Given the description of an element on the screen output the (x, y) to click on. 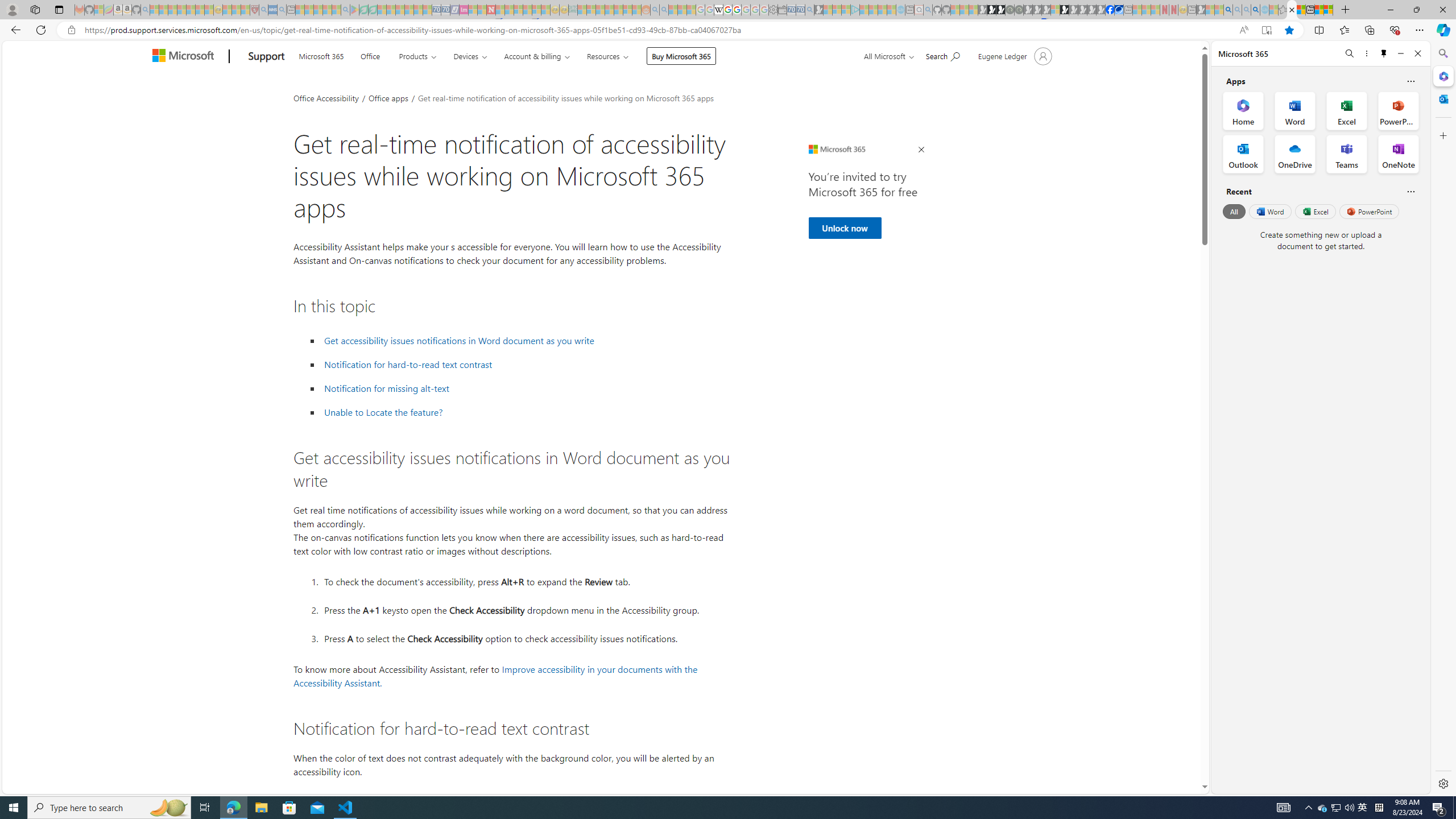
MSN - Sleeping (1200, 9)
Unable to Locate the feature? (525, 412)
AirNow.gov (1118, 9)
PowerPoint (1369, 210)
Google Chrome Internet Browser Download - Search Images (1255, 9)
Office (370, 54)
Kinda Frugal - MSN - Sleeping (617, 9)
Pets - MSN - Sleeping (326, 9)
